Given the description of an element on the screen output the (x, y) to click on. 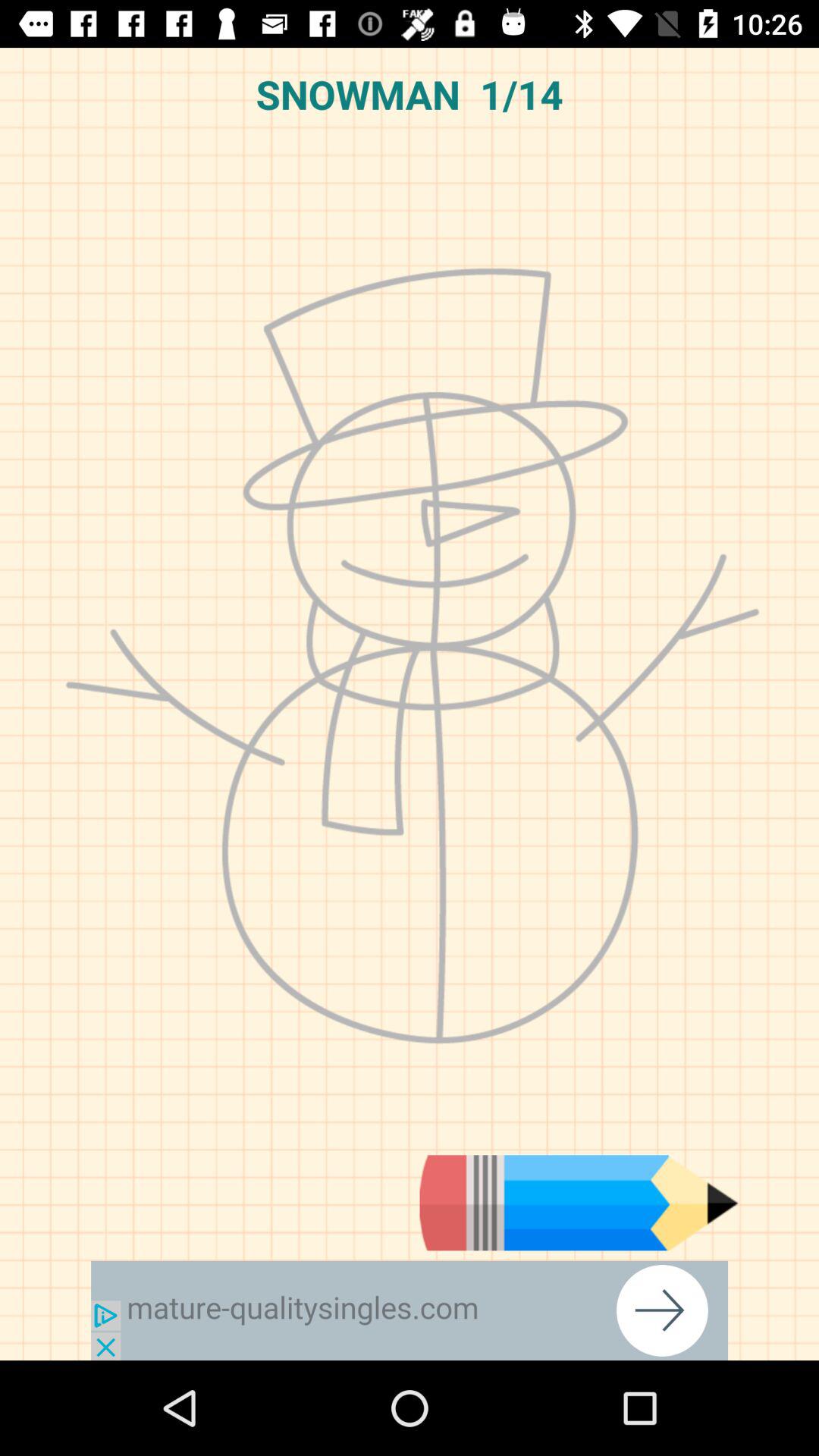
draw (578, 1202)
